Given the description of an element on the screen output the (x, y) to click on. 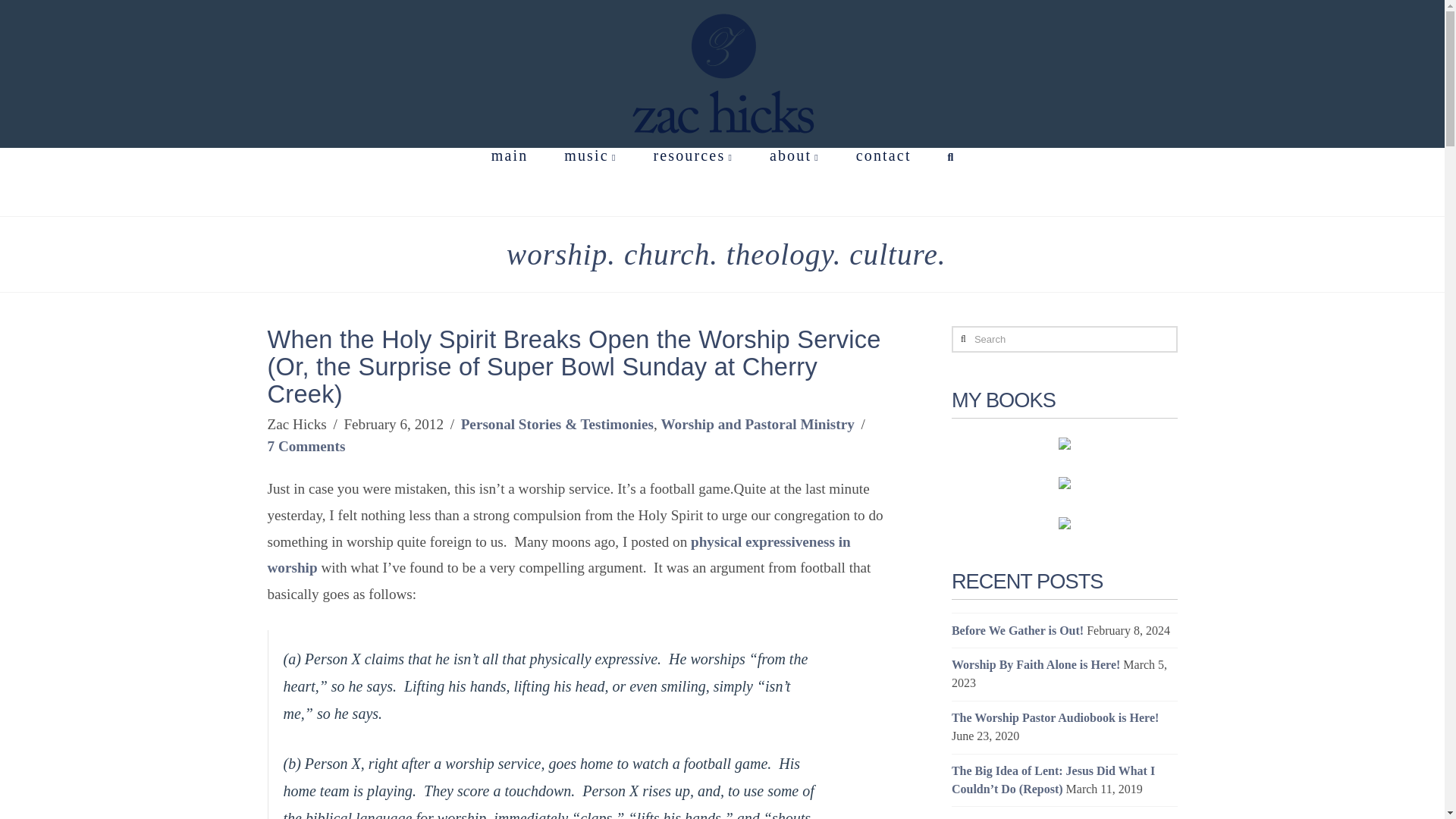
contact (882, 182)
resources (692, 182)
physical expressiveness in worship (558, 554)
about (794, 182)
7 Comments (305, 446)
music (588, 182)
main (507, 182)
Worship and Pastoral Ministry (757, 424)
